Given the description of an element on the screen output the (x, y) to click on. 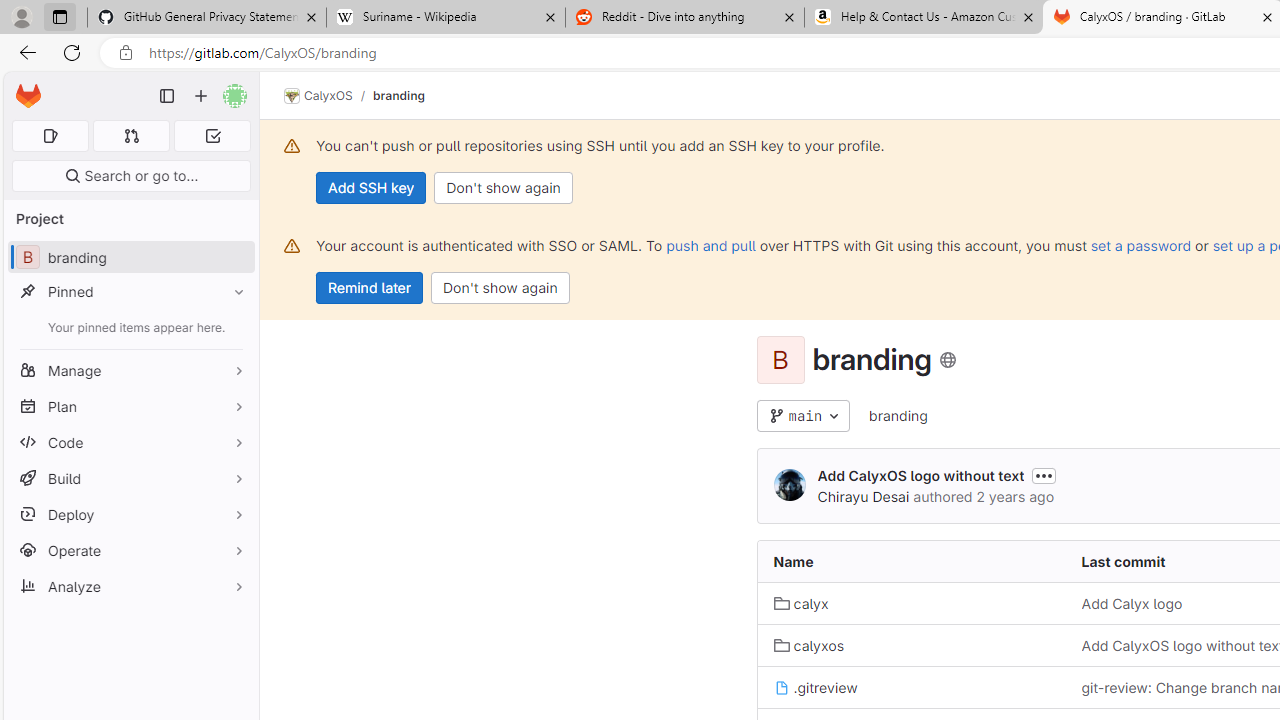
Chirayu Desai's avatar (789, 485)
CalyxOS (318, 96)
Name (911, 561)
Build (130, 478)
branding (898, 416)
push and pull (710, 245)
CalyxOS/ (328, 96)
.gitreview (911, 687)
Code (130, 442)
Add Calyx logo (1131, 603)
Deploy (130, 514)
